Given the description of an element on the screen output the (x, y) to click on. 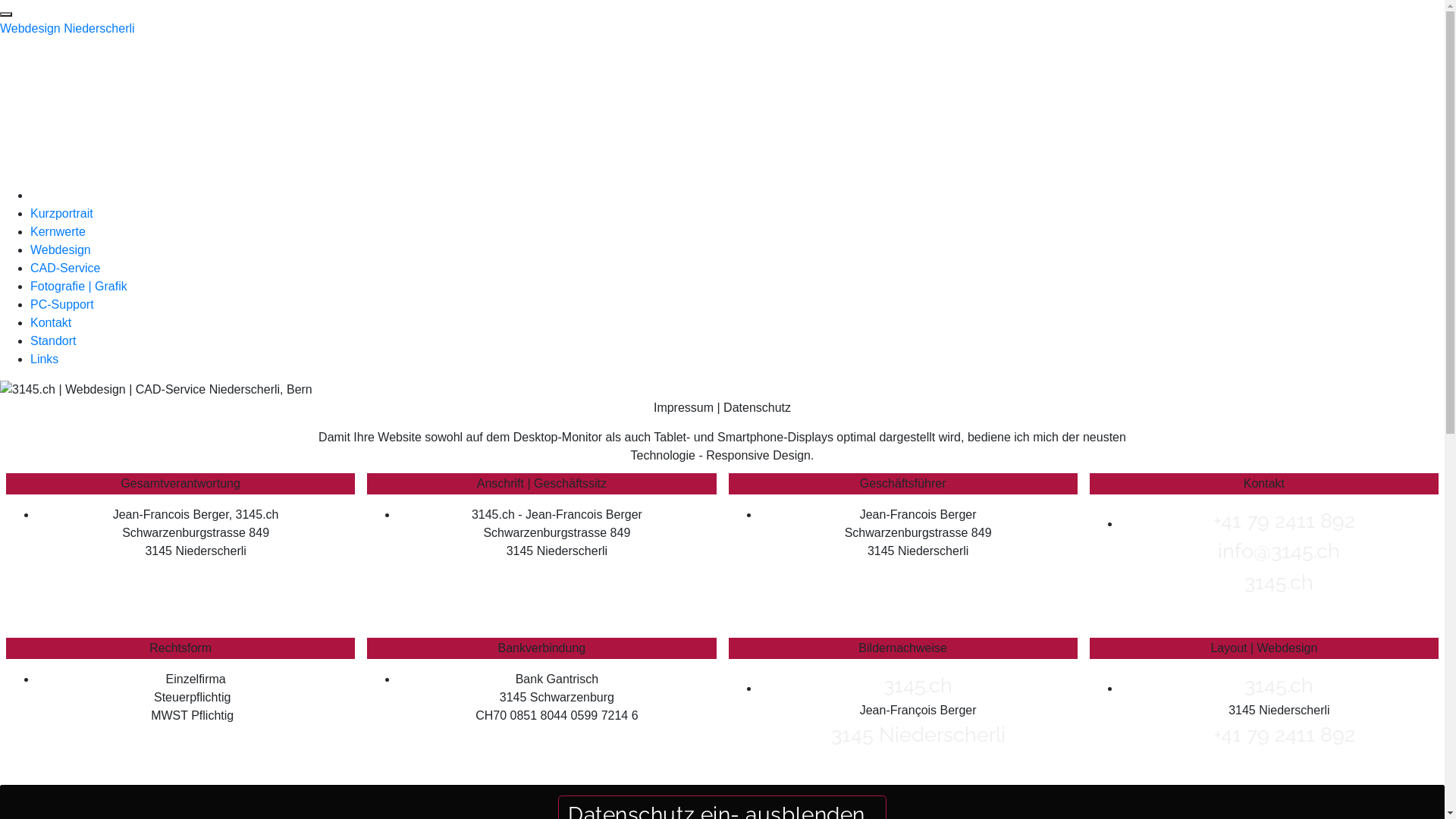
Fotografie | Grafik Element type: text (78, 285)
Webdesign Element type: text (60, 249)
3145 Niederscherli Element type: text (918, 734)
3145.ch Element type: text (1278, 684)
Standort Element type: text (52, 340)
PC-Support Element type: text (62, 304)
3145.ch Element type: text (1278, 581)
  +41 79 2411 892 Element type: text (1278, 520)
Webdesign Niederscherli Element type: text (67, 27)
+41 79 2411 892 Element type: text (70, 124)
Schwarzenburgstrasse 849, Niederscherli Element type: text (147, 88)
  +41 79 2411 892 Element type: text (1278, 734)
info@3145.ch Element type: text (1278, 550)
CAD-Service Element type: text (65, 267)
3145.ch Element type: text (917, 684)
info@3145.ch Element type: text (62, 160)
Links Element type: text (44, 358)
Kontakt Element type: text (50, 322)
Kernwerte Element type: text (57, 231)
Kurzportrait Element type: text (61, 213)
